Given the description of an element on the screen output the (x, y) to click on. 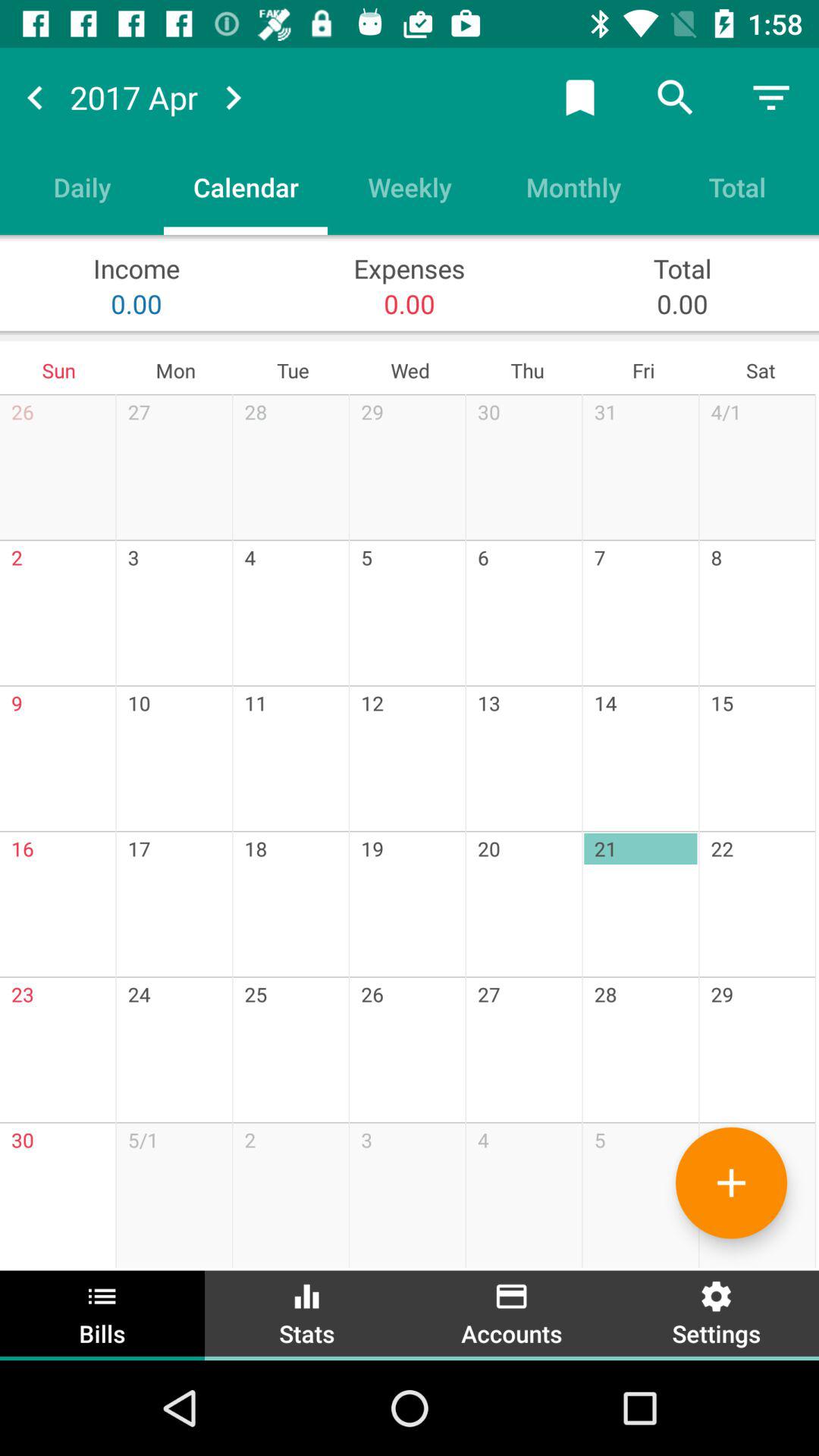
bookmark day (579, 97)
